Given the description of an element on the screen output the (x, y) to click on. 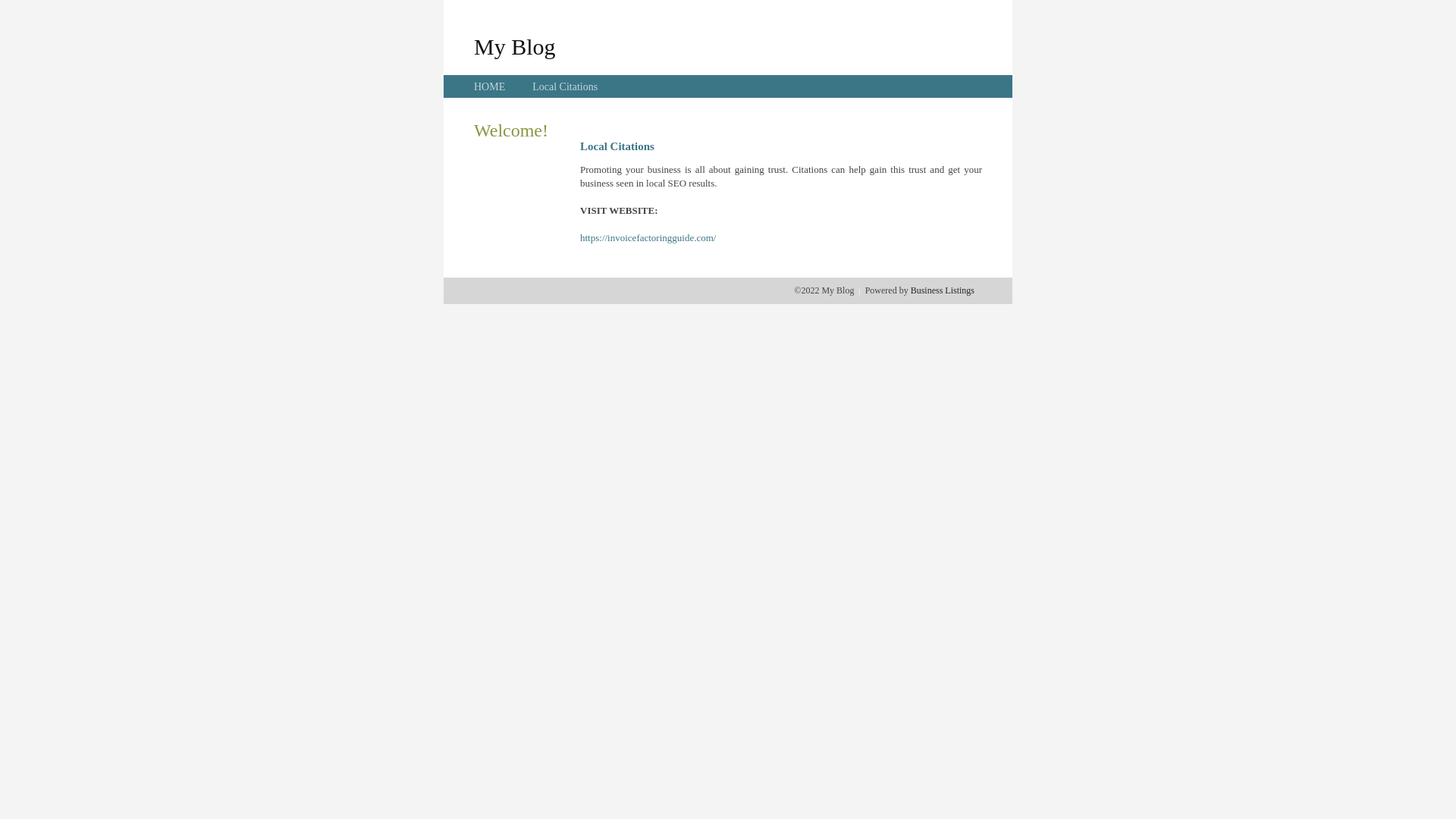
HOME Element type: text (489, 86)
https://invoicefactoringguide.com/ Element type: text (647, 237)
Local Citations Element type: text (564, 86)
Business Listings Element type: text (942, 290)
My Blog Element type: text (514, 46)
